Given the description of an element on the screen output the (x, y) to click on. 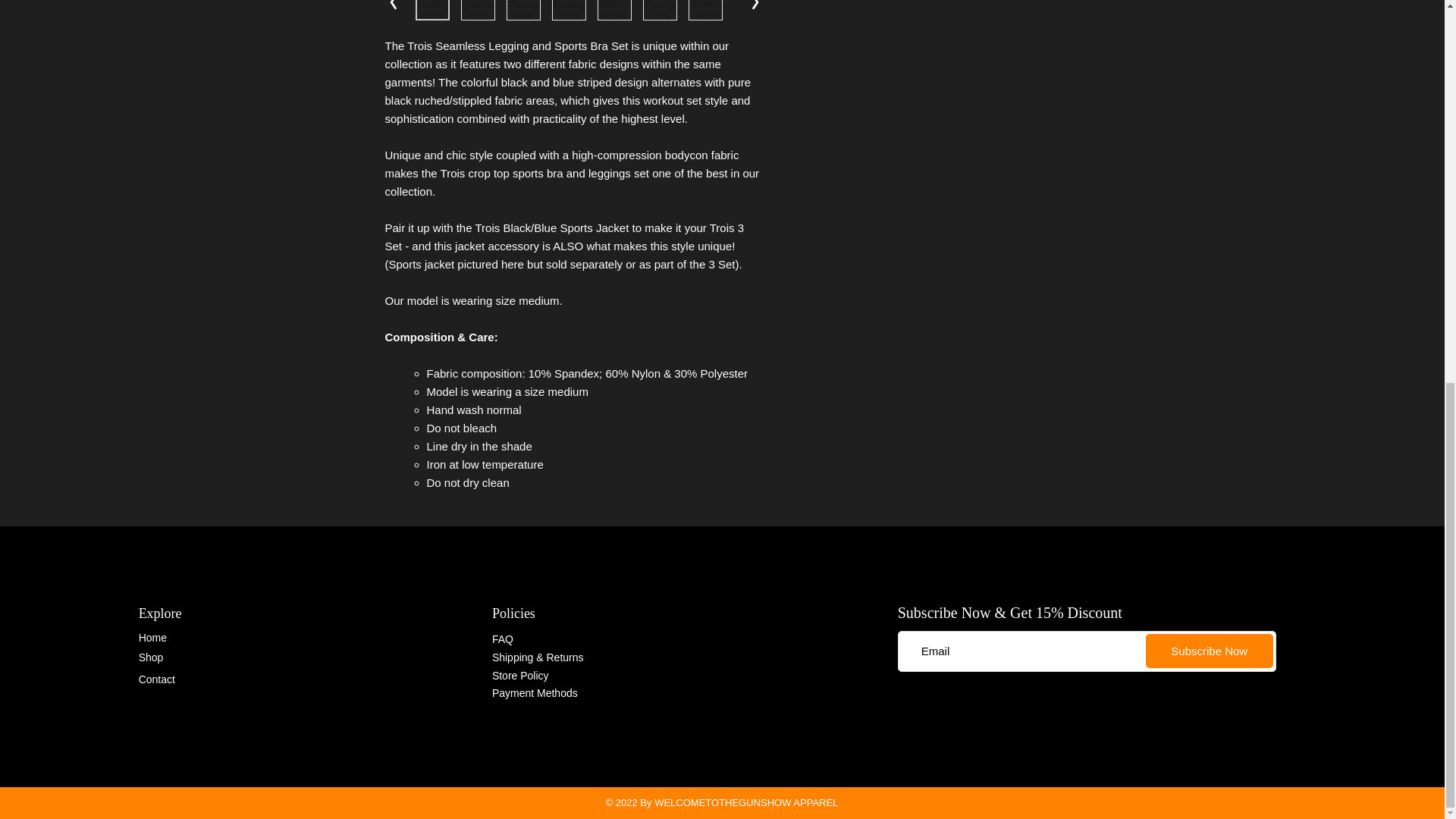
Payment Methods (535, 693)
FAQ (502, 639)
Shop (150, 657)
Home (152, 637)
Subscribe Now (1208, 650)
Store Policy  (521, 675)
Contact  (157, 679)
